Given the description of an element on the screen output the (x, y) to click on. 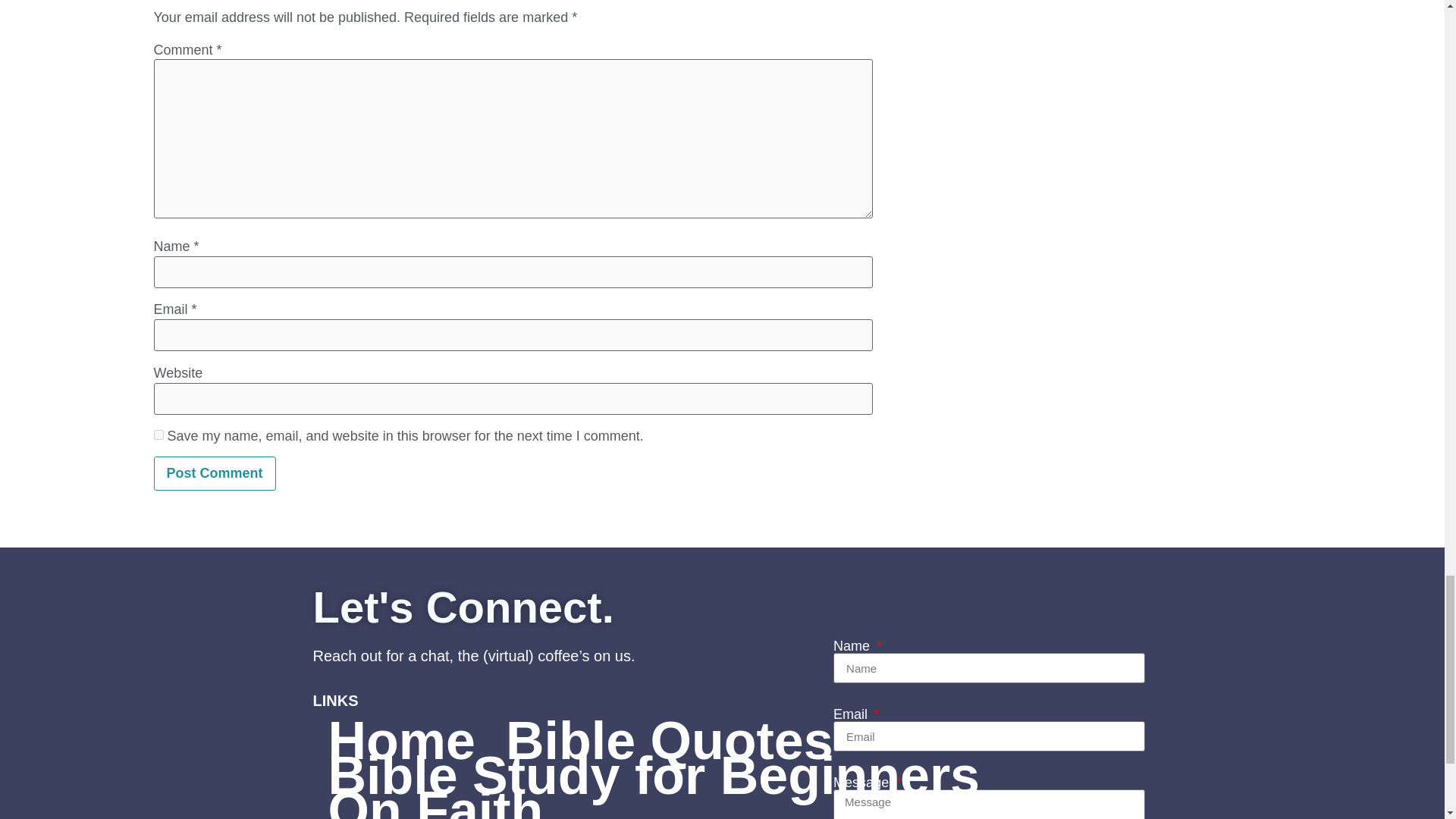
On Faith (435, 806)
Home (401, 740)
Post Comment (213, 473)
Post Comment (213, 473)
Bible Study for Beginners (653, 775)
Bible Quotes (669, 740)
yes (157, 434)
